Given the description of an element on the screen output the (x, y) to click on. 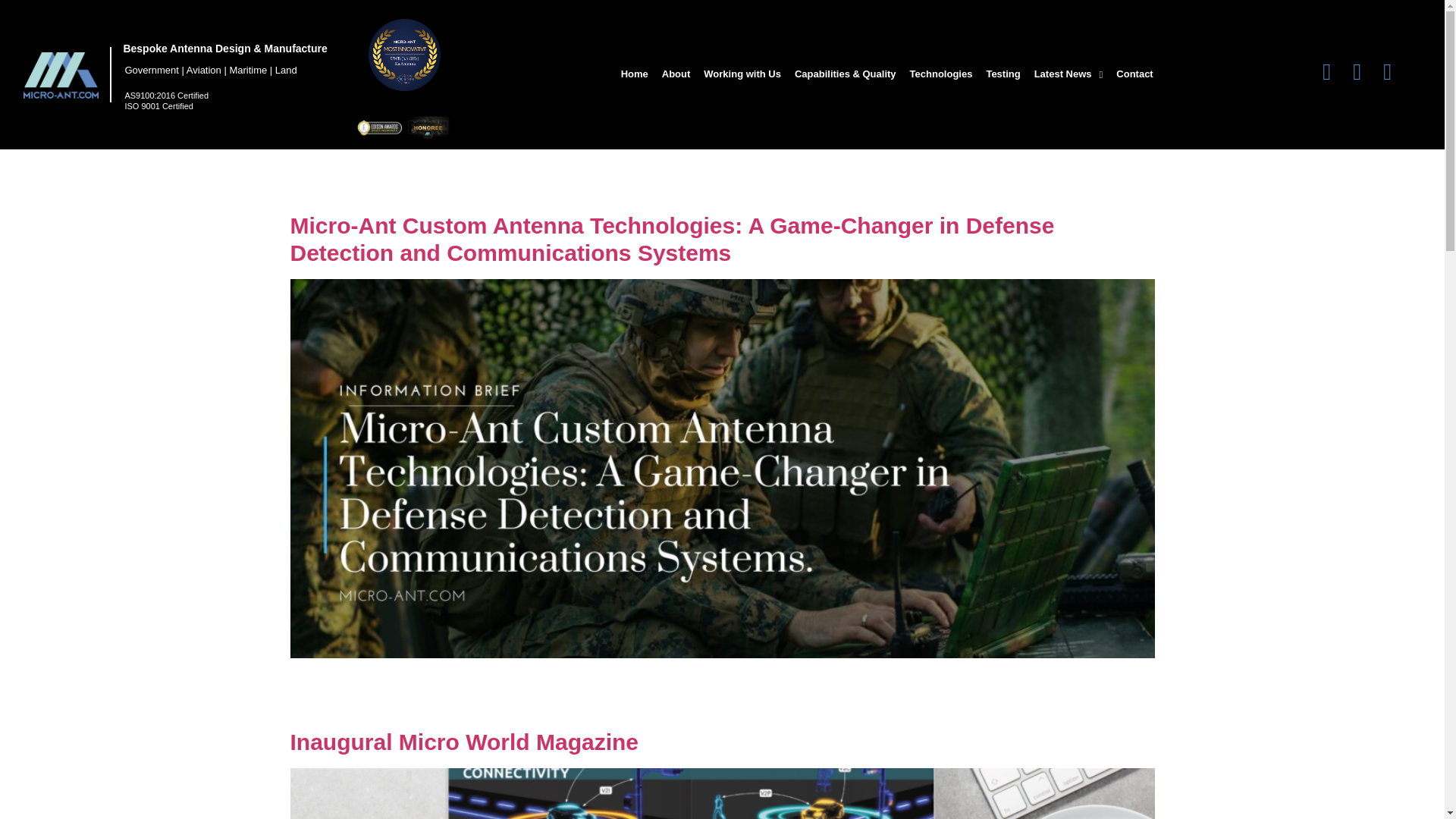
Technologies (940, 74)
Working with Us (742, 74)
Opens in new tab (1356, 71)
Latest News (1068, 74)
Opens in new tab (1327, 71)
